Given the description of an element on the screen output the (x, y) to click on. 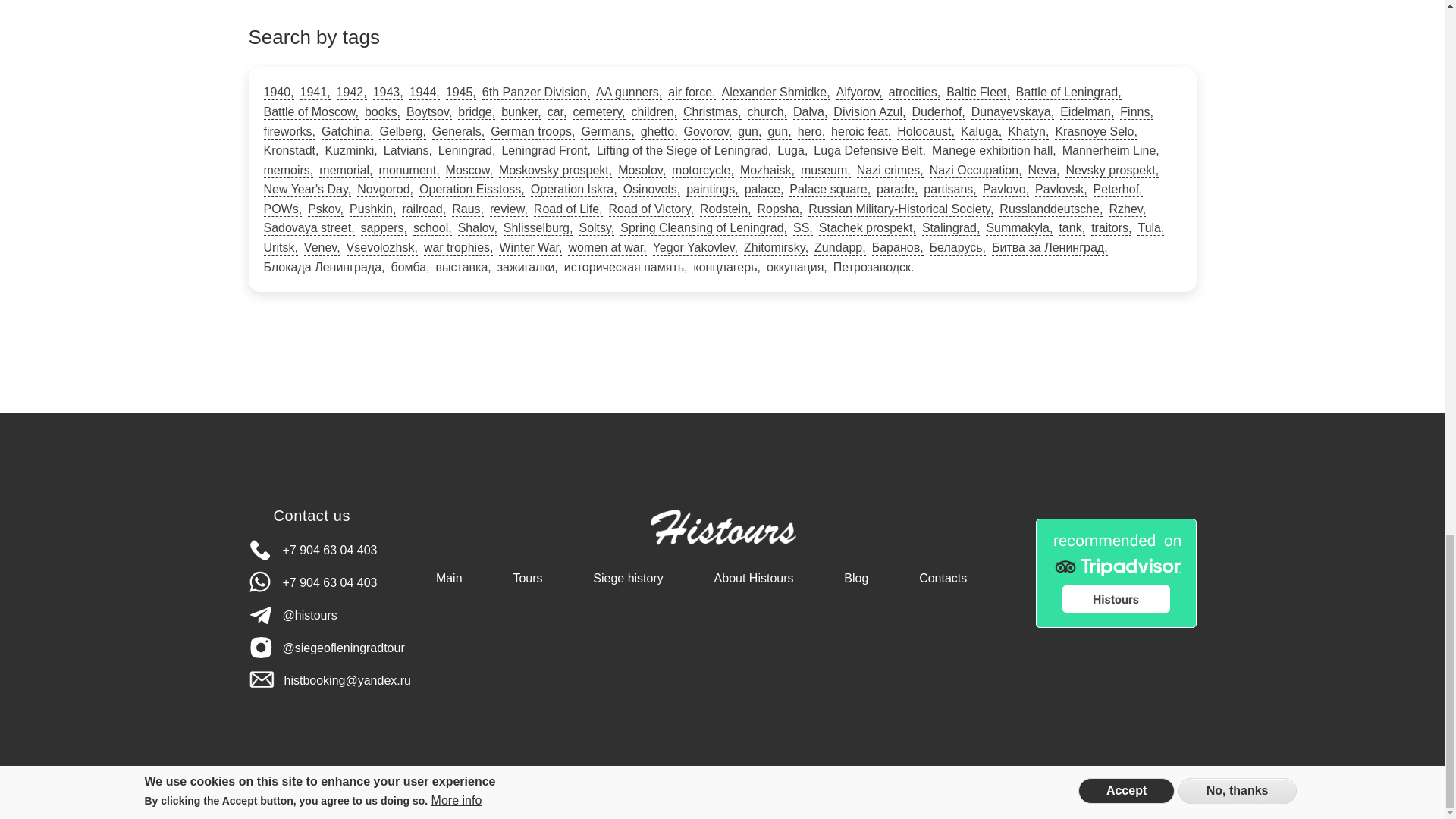
WhatsApp (312, 582)
6th Panzer Division (535, 92)
Histours.ru (723, 552)
atrocities (914, 92)
1942 (351, 92)
Site map (763, 793)
1945 (460, 92)
Main (723, 531)
Instagram (326, 647)
Telegram (292, 615)
1943 (387, 92)
air force (691, 92)
Tripadvisor (1115, 573)
Phone (312, 550)
AA gunners (628, 92)
